Given the description of an element on the screen output the (x, y) to click on. 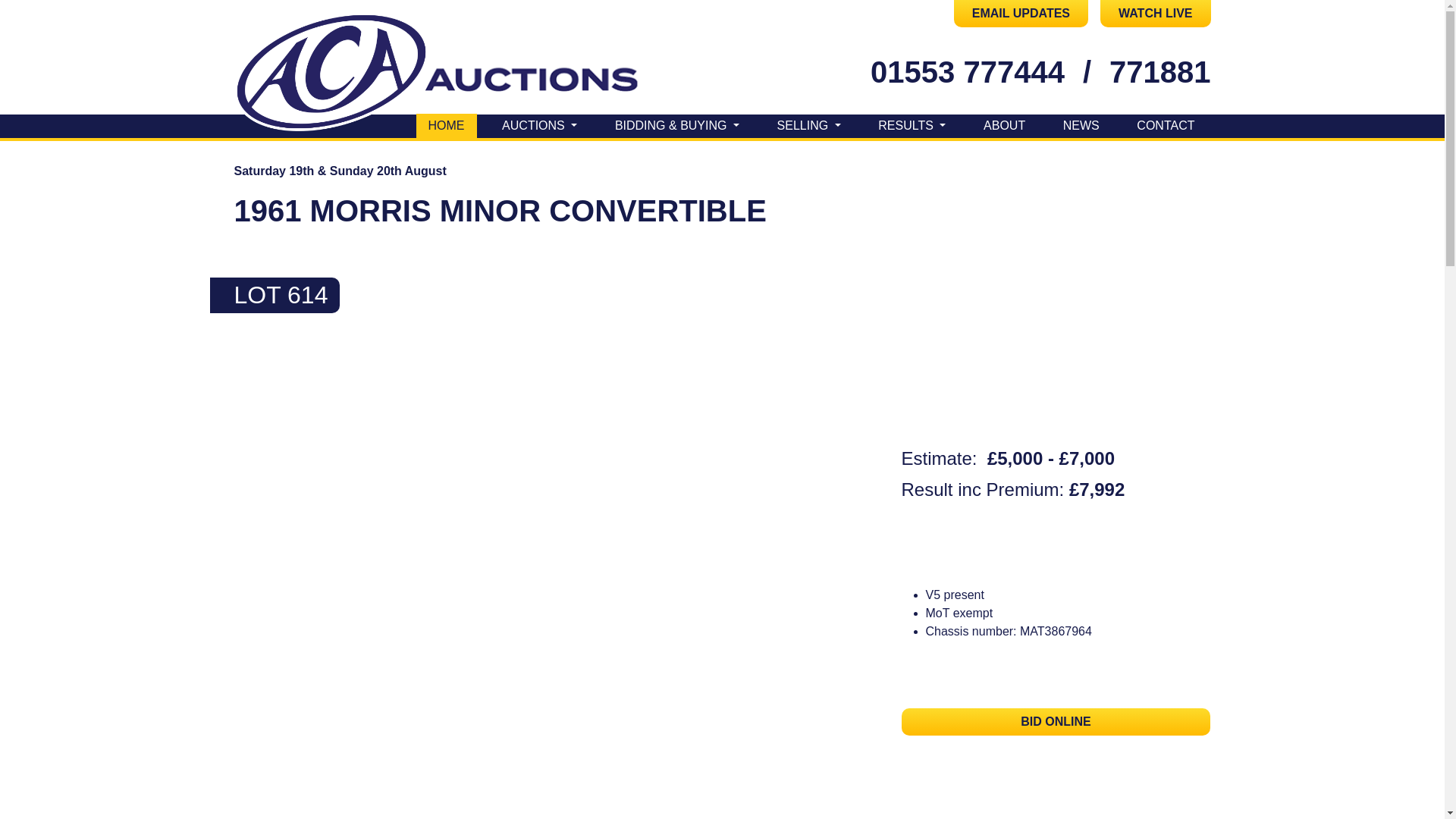
Watch our auctions live (1154, 13)
BID ONLINE (1055, 721)
HOME (445, 125)
EMAIL UPDATES (1020, 13)
01553 777444 (967, 72)
Selling (809, 125)
SELLING (809, 125)
01553 777444 (967, 72)
RESULTS (912, 125)
Results (912, 125)
